Given the description of an element on the screen output the (x, y) to click on. 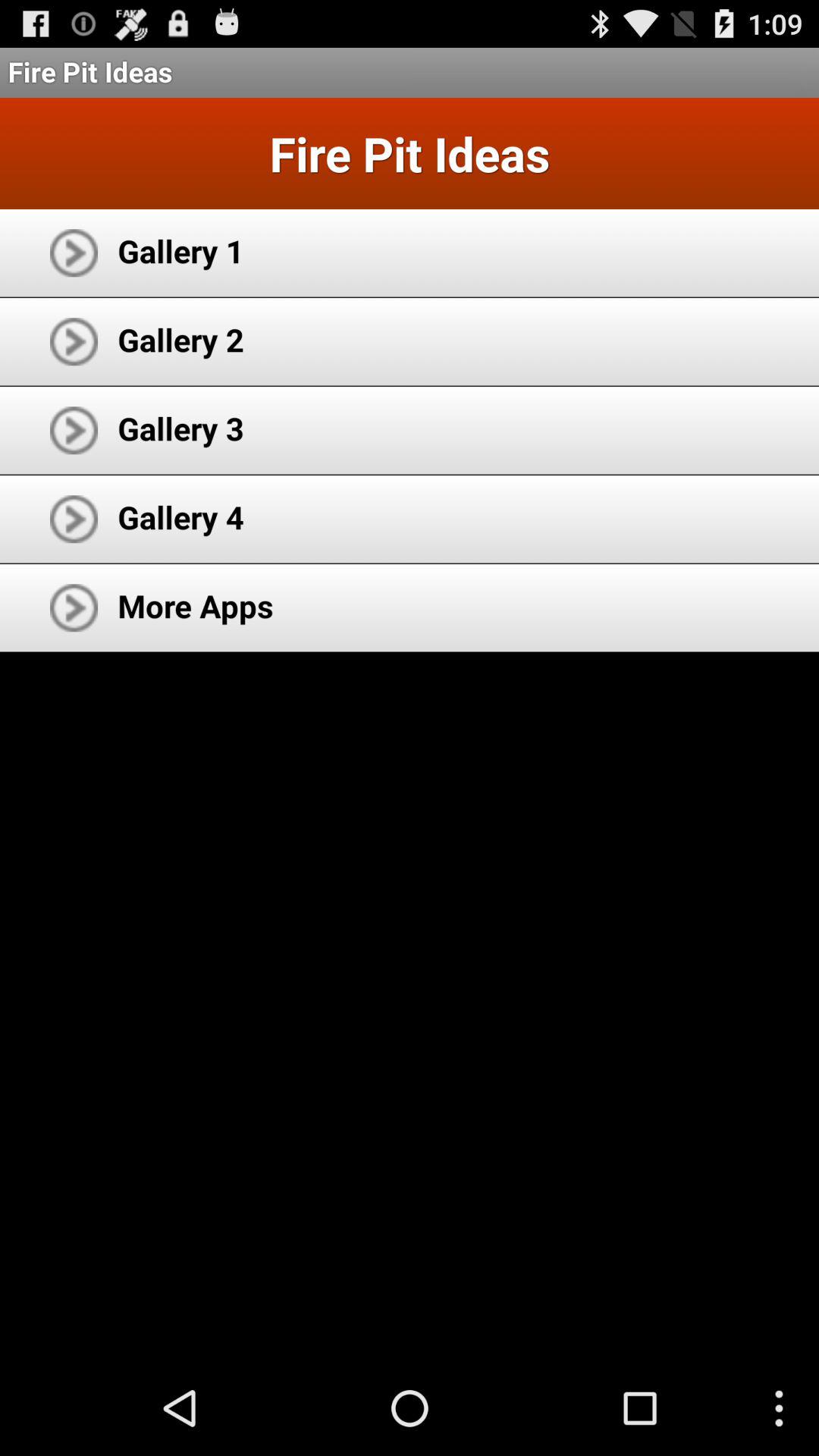
scroll to the gallery 1 (180, 250)
